Given the description of an element on the screen output the (x, y) to click on. 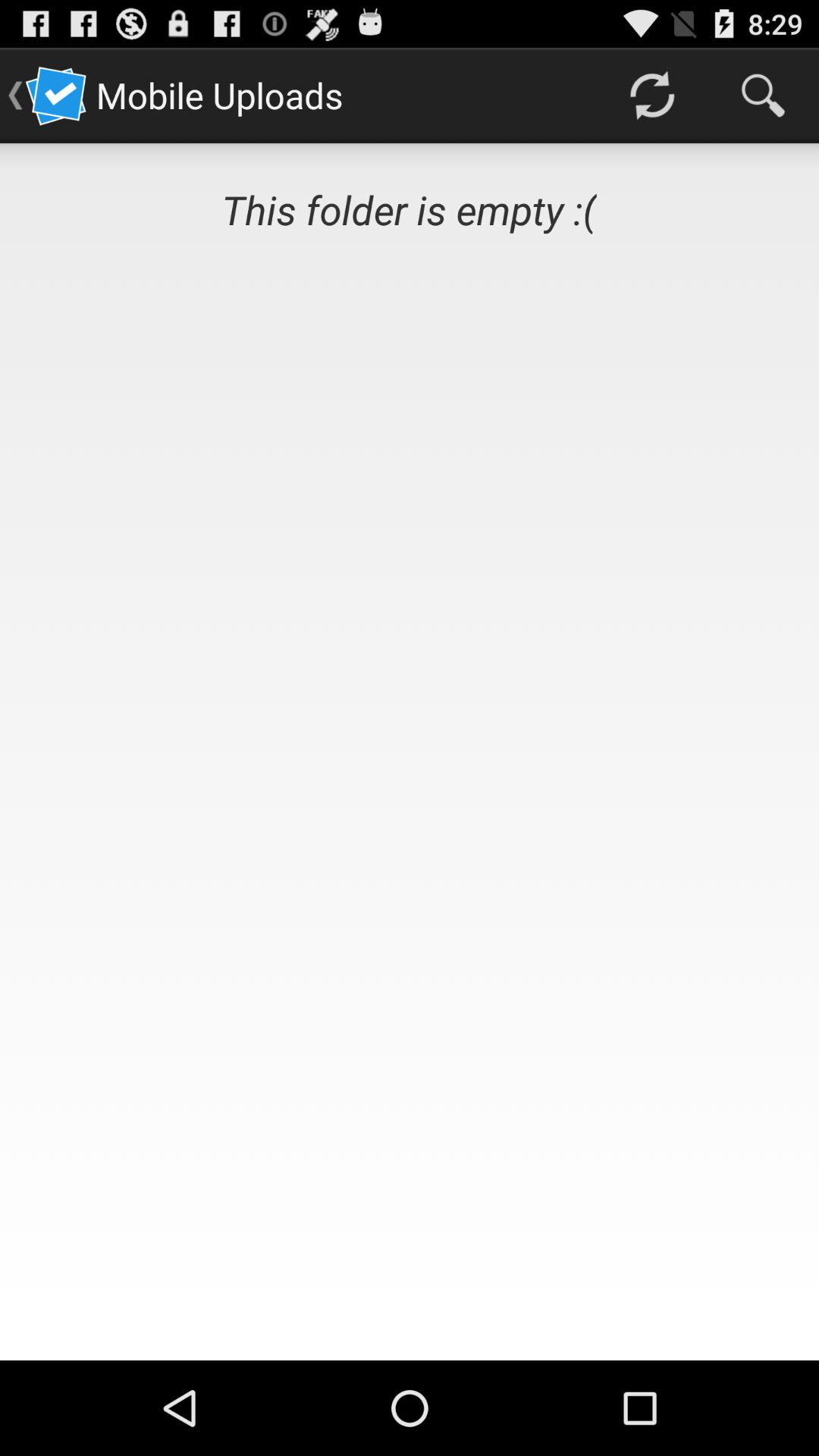
choose item to the right of the mobile uploads app (651, 95)
